Given the description of an element on the screen output the (x, y) to click on. 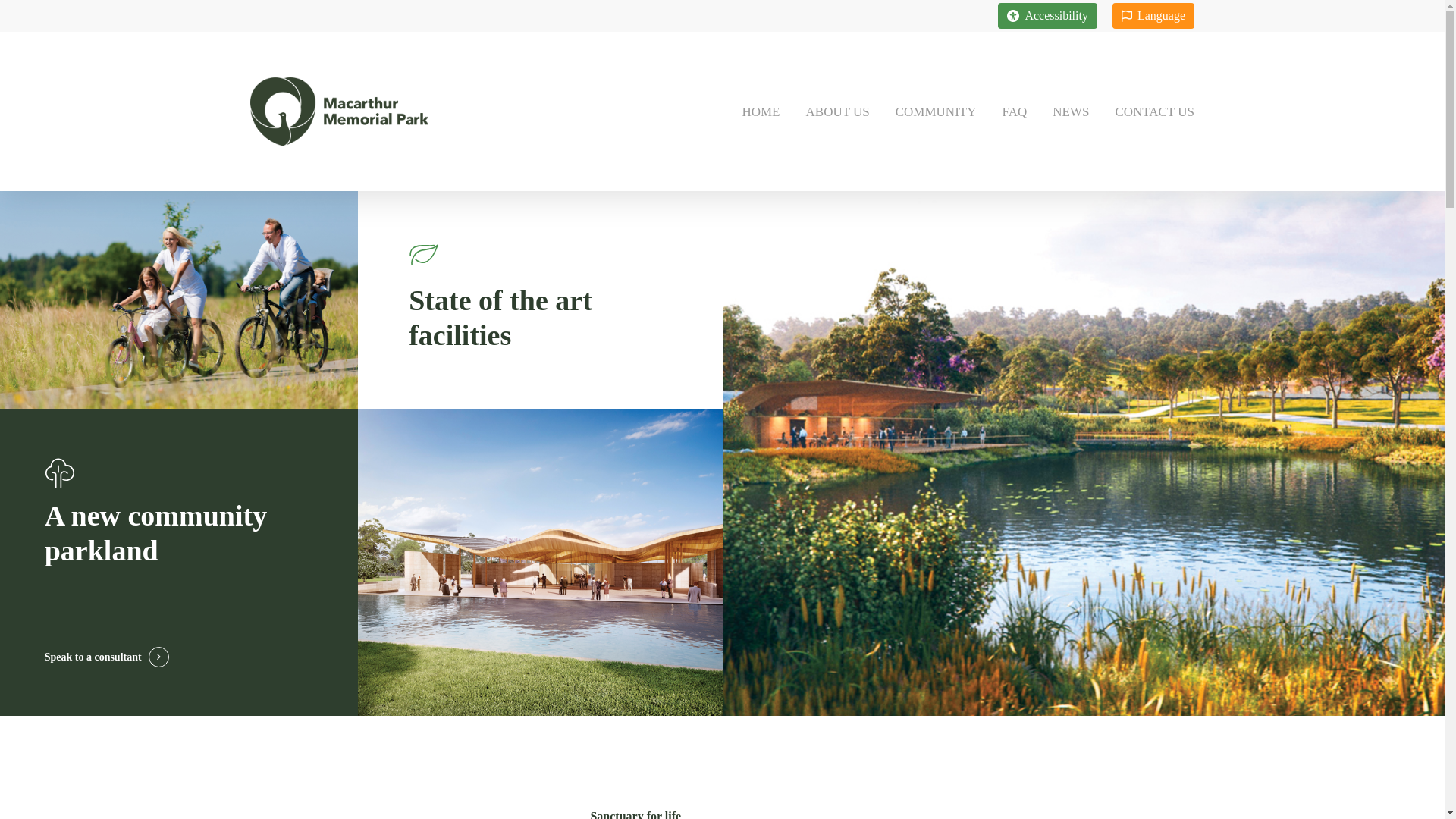
ABOUT US Element type: text (837, 110)
HOME Element type: text (760, 110)
Speak to a consultant Element type: text (106, 657)
Language Element type: text (1153, 15)
NEWS Element type: text (1070, 110)
CONTACT US Element type: text (1147, 110)
COMMUNITY Element type: text (935, 110)
FAQ Element type: text (1013, 110)
Accessibility Element type: text (1047, 15)
